Given the description of an element on the screen output the (x, y) to click on. 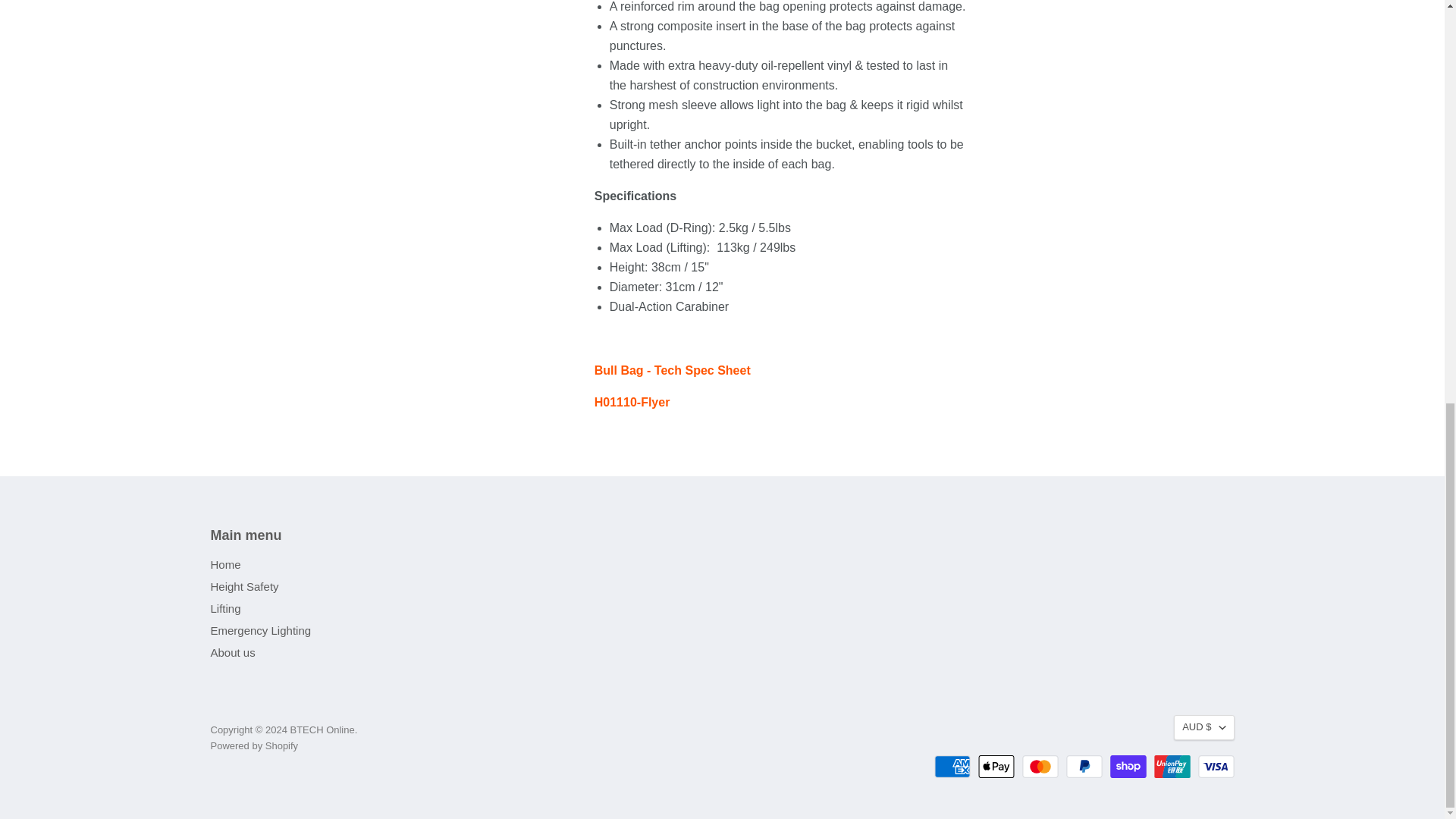
Union Pay (1172, 766)
H01110-Flyer (631, 401)
Bull Bag - Tech Spec Sheet (672, 369)
Visa (1216, 766)
Shop Pay (1128, 766)
Mastercard (1040, 766)
Apple Pay (996, 766)
PayPal (1083, 766)
American Express (952, 766)
